Given the description of an element on the screen output the (x, y) to click on. 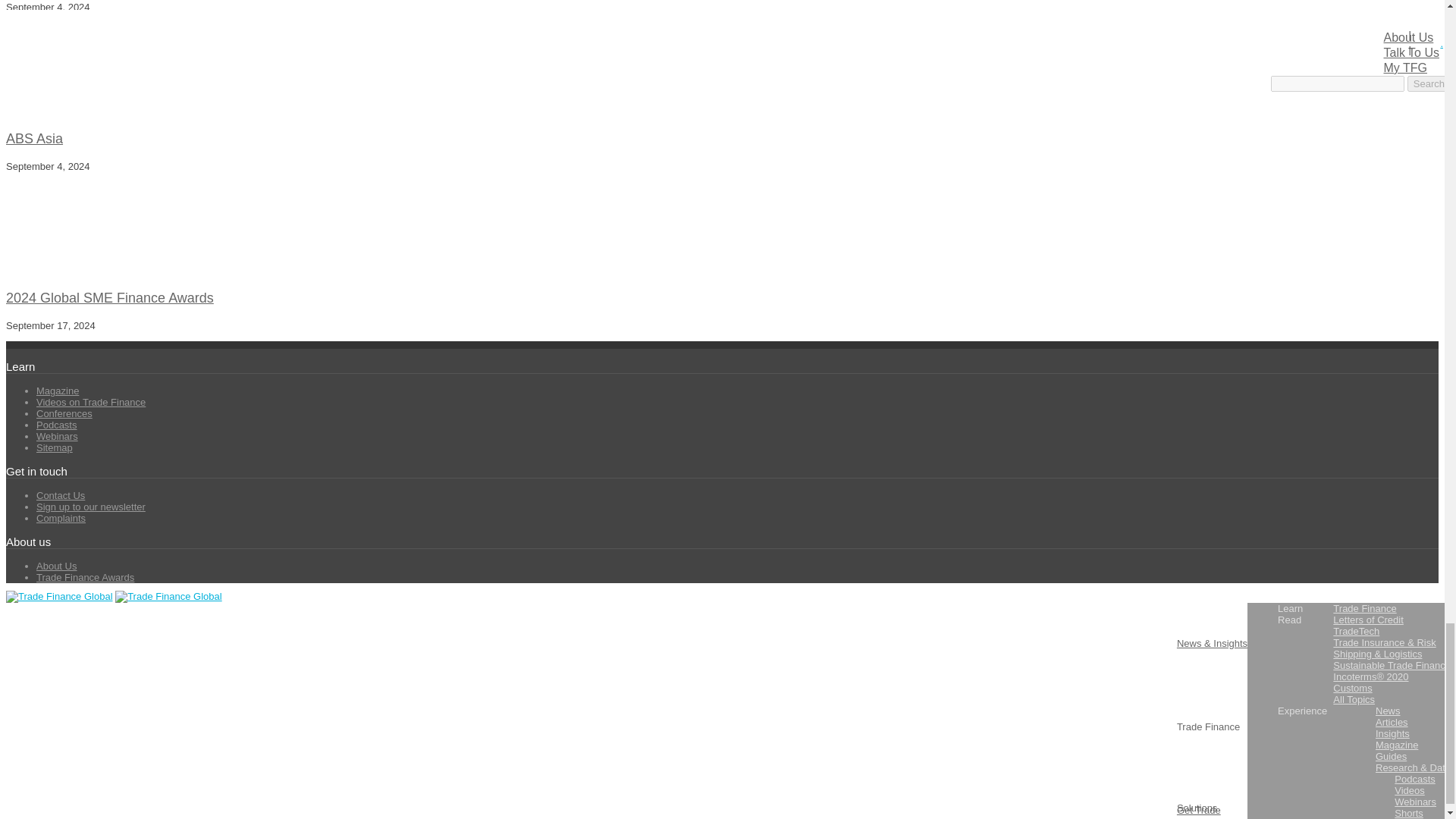
Terms and Conditions (53, 632)
Contact Us (164, 644)
Disclaimer (132, 632)
Trade Finance Jobs (22, 644)
Terms of Business (89, 644)
Editorial Policy (351, 632)
Complaints Policy (271, 632)
Privacy Policy (194, 632)
